Given the description of an element on the screen output the (x, y) to click on. 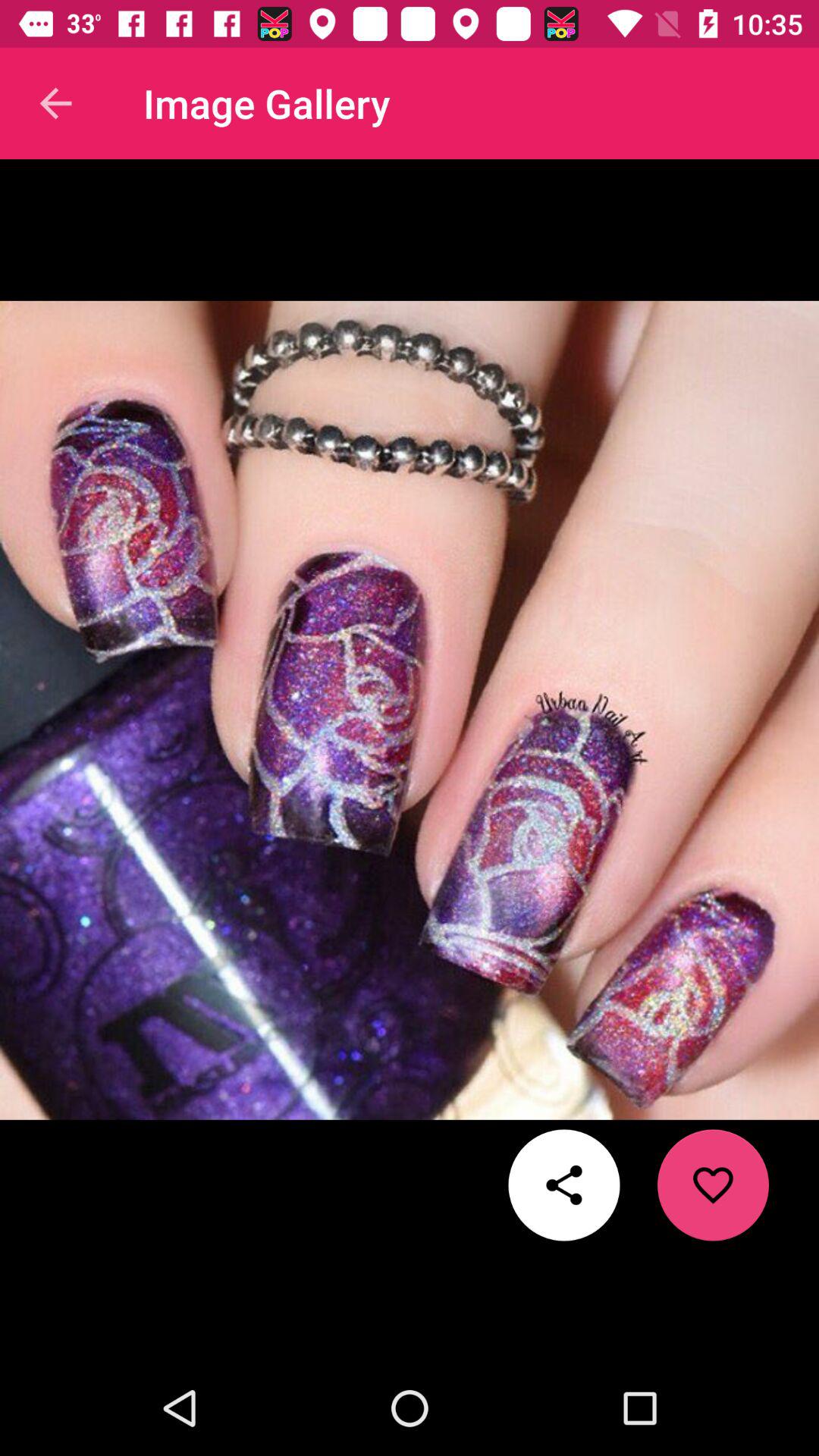
click the icon to the left of image gallery item (55, 103)
